Given the description of an element on the screen output the (x, y) to click on. 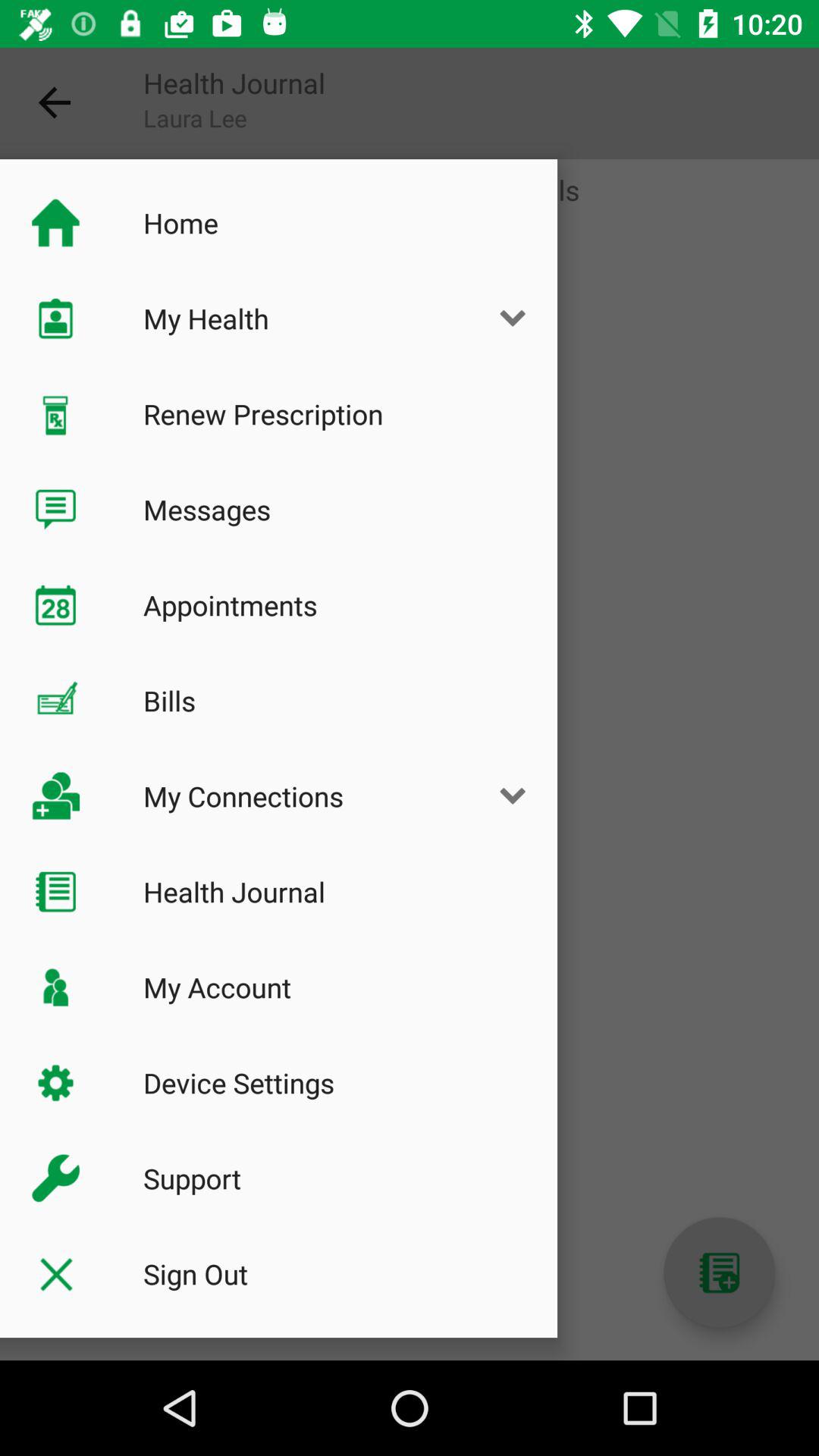
launch the icon at the bottom right corner (719, 1272)
